Given the description of an element on the screen output the (x, y) to click on. 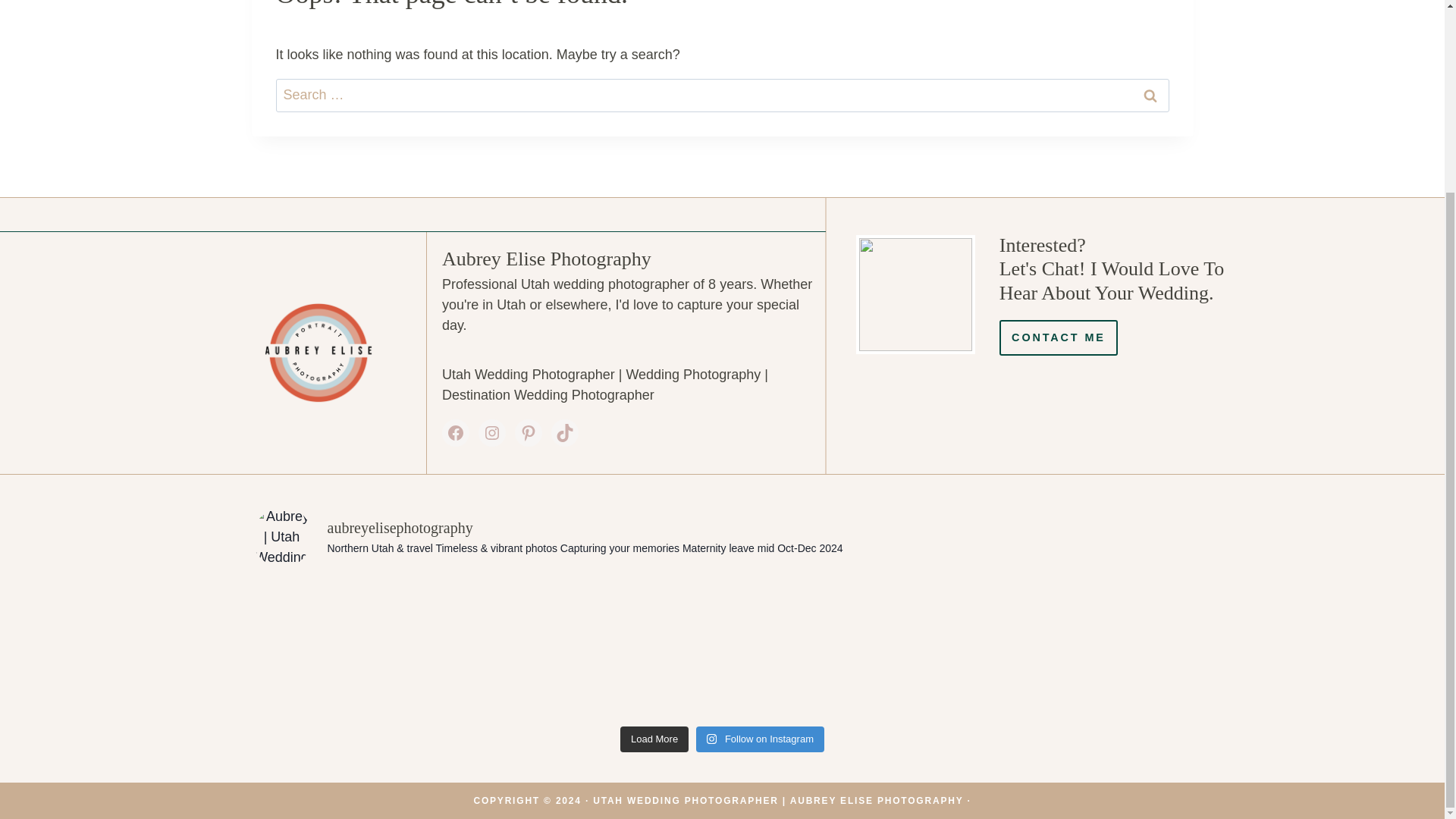
Follow on Instagram (759, 739)
Load More (654, 739)
TikTok (564, 432)
Search (1150, 94)
Search (1150, 94)
Pinterest (528, 432)
Facebook (455, 432)
Instagram (492, 432)
CONTACT ME (1058, 337)
Search (1150, 94)
